Given the description of an element on the screen output the (x, y) to click on. 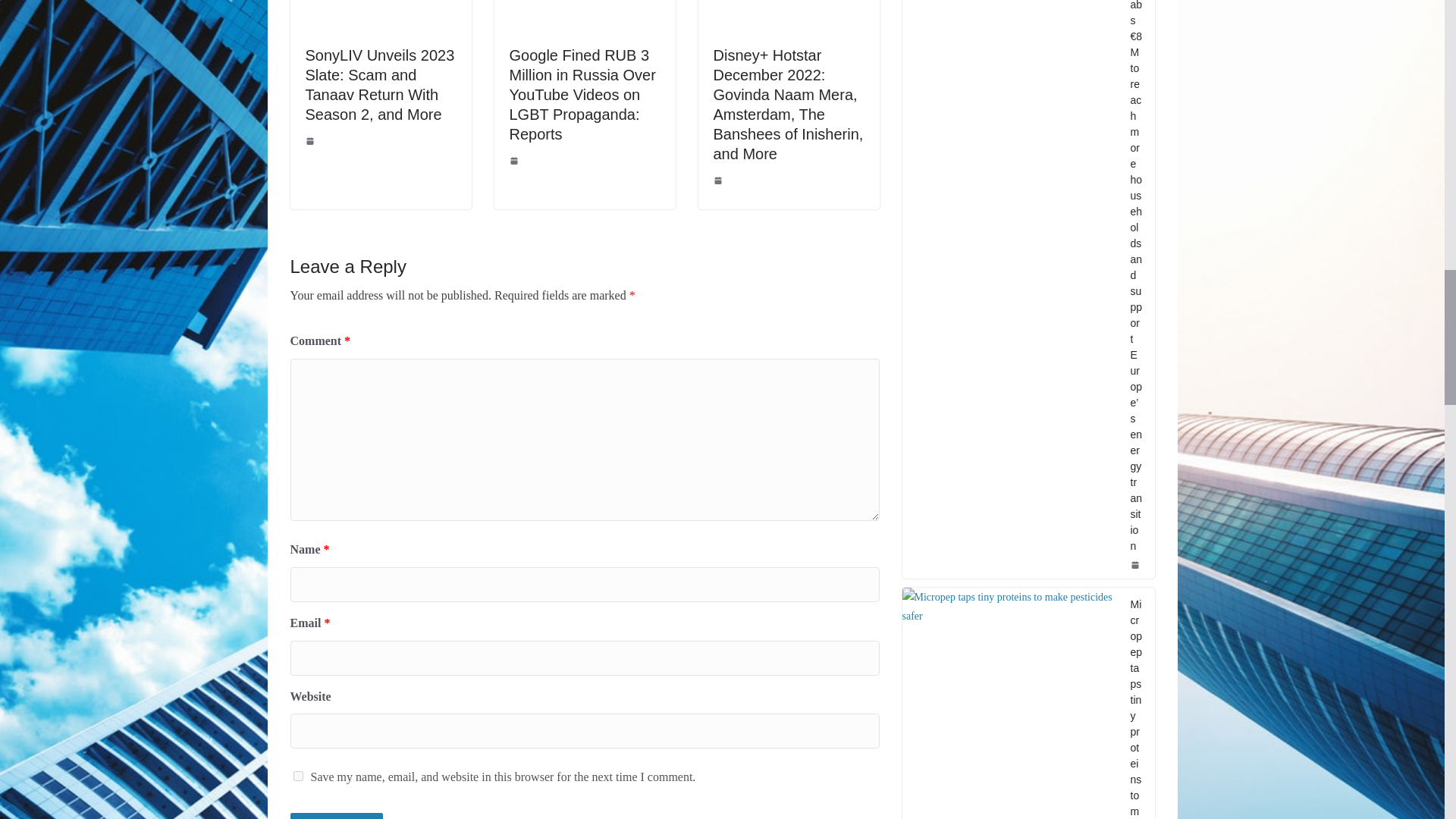
9:19 am (310, 140)
Post Comment (335, 816)
yes (297, 776)
1:47 am (515, 160)
